Given the description of an element on the screen output the (x, y) to click on. 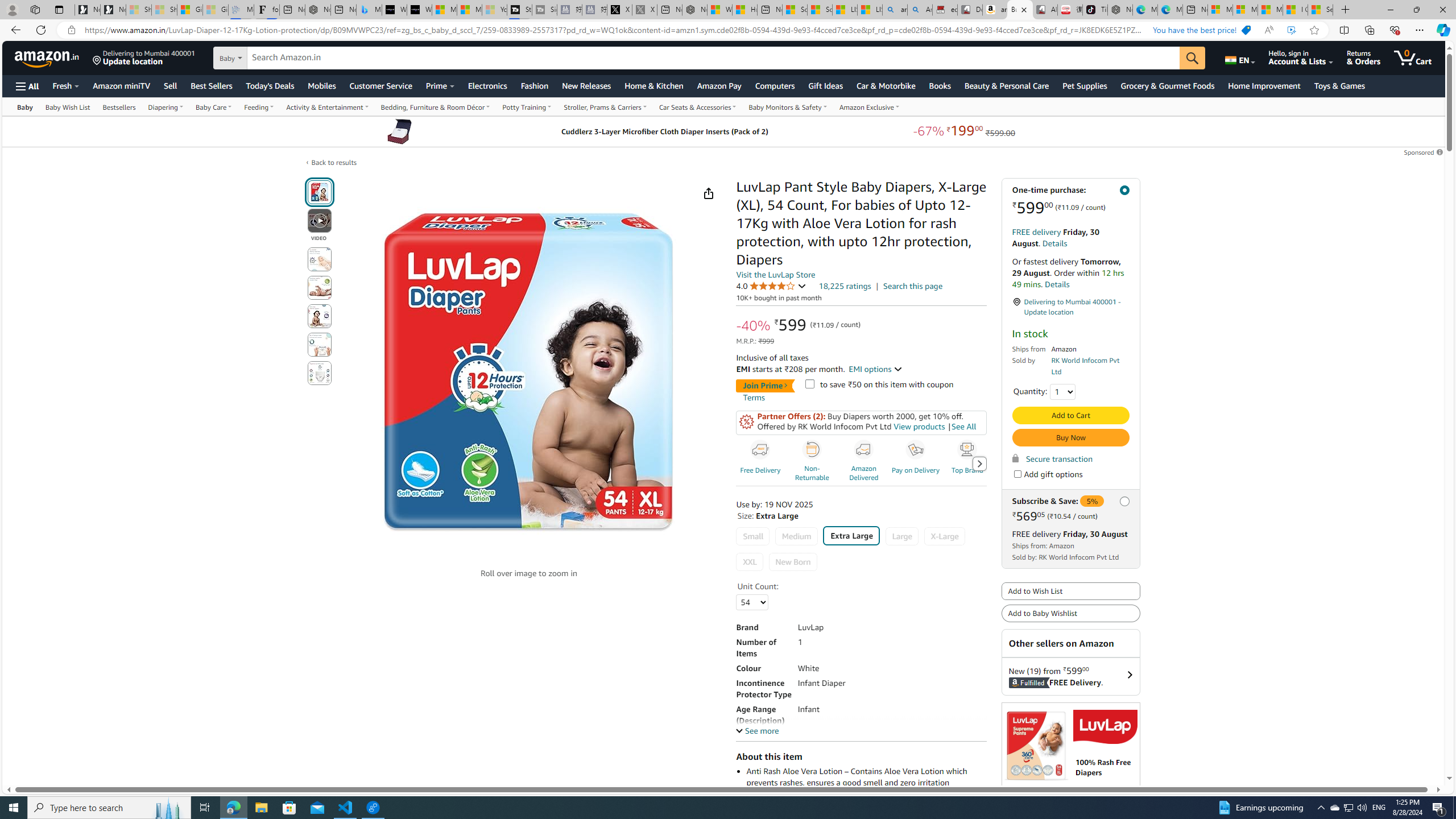
Visit the LuvLap Store (775, 274)
Details (1057, 284)
amazon.in/dp/B0CX59H5W7/?tag=gsmcom05-21 (993, 9)
Bestsellers (119, 106)
Returns & Orders (1363, 57)
4.0 4.0 out of 5 stars (770, 285)
Savings indicator icon (746, 422)
Choose a language for shopping. (1239, 57)
